Given the description of an element on the screen output the (x, y) to click on. 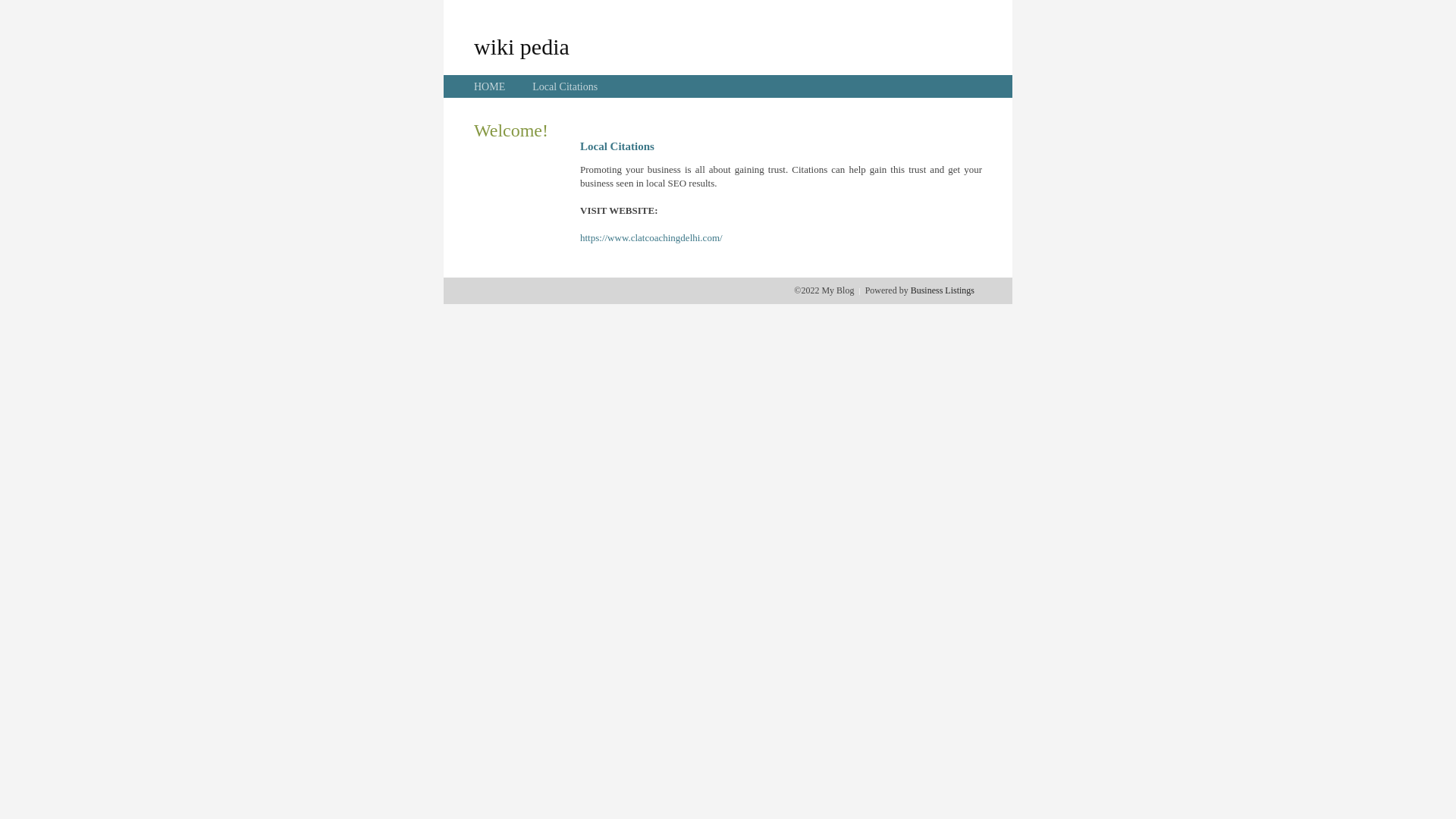
wiki pedia Element type: text (521, 46)
Business Listings Element type: text (942, 290)
HOME Element type: text (489, 86)
Local Citations Element type: text (564, 86)
https://www.clatcoachingdelhi.com/ Element type: text (651, 237)
